Given the description of an element on the screen output the (x, y) to click on. 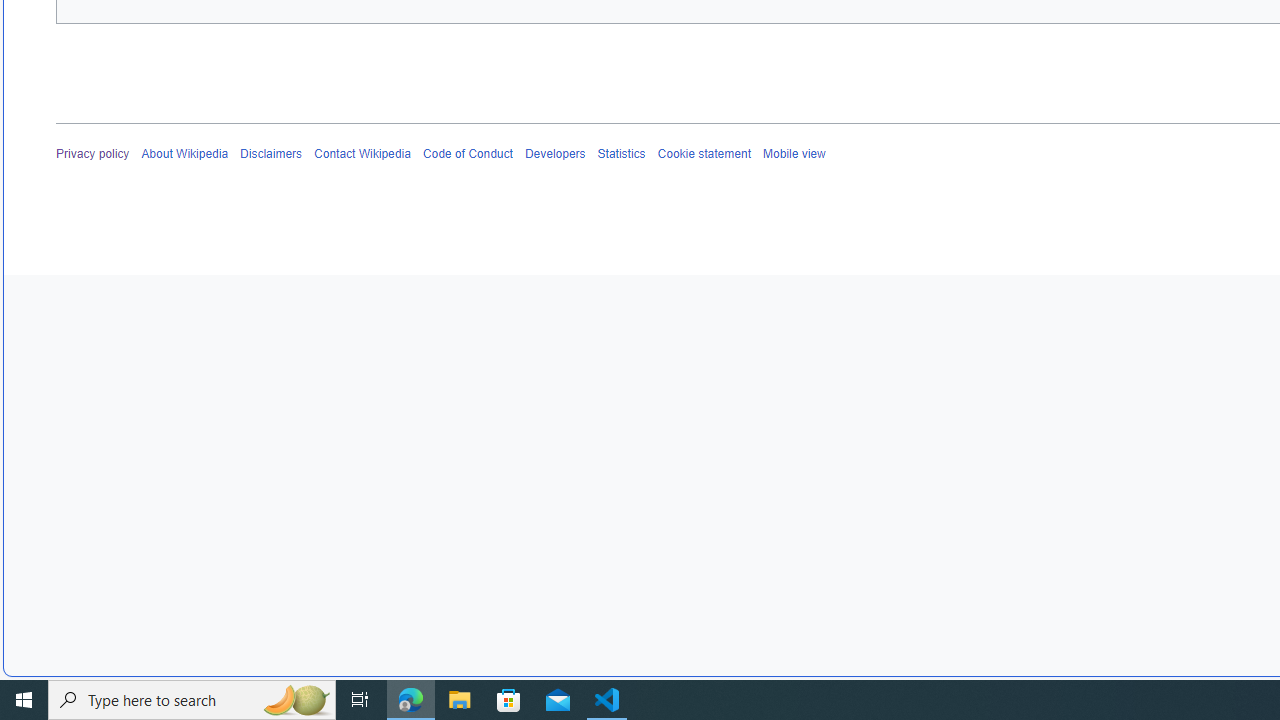
Disclaimers (271, 154)
About Wikipedia (184, 154)
Statistics (621, 154)
Privacy policy (93, 154)
Code of Conduct (467, 154)
Code of Conduct (467, 154)
Privacy policy (93, 154)
Developers (554, 154)
Cookie statement (703, 154)
Cookie statement (703, 154)
Statistics (621, 154)
Developers (554, 154)
Contact Wikipedia (361, 154)
Contact Wikipedia (361, 154)
